Given the description of an element on the screen output the (x, y) to click on. 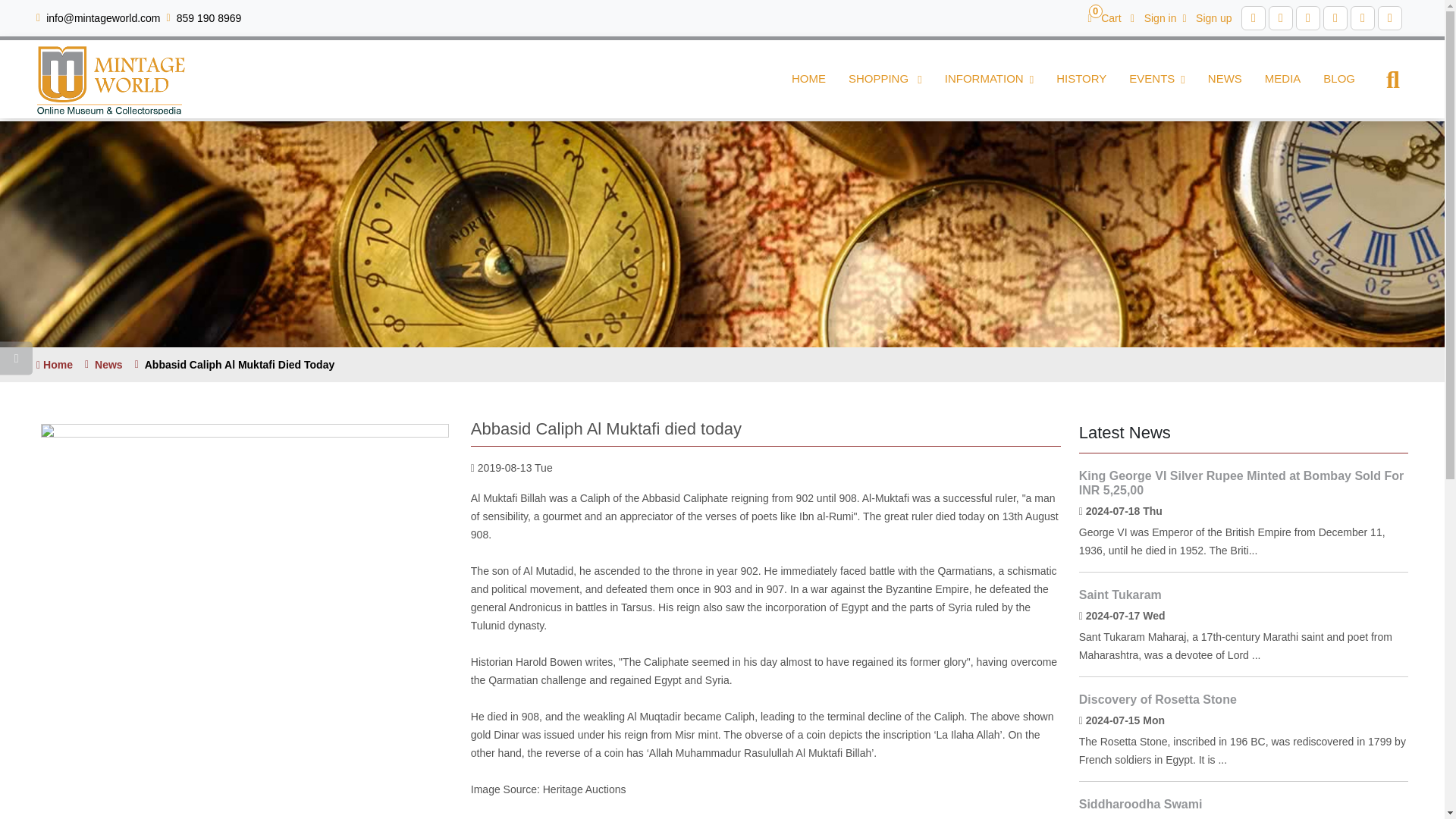
INFORMATION (988, 78)
Sign up (1206, 18)
Sign in (1153, 18)
Cart (1104, 18)
Sign up (1104, 18)
SHOPPING (1206, 18)
859 190 8969 (884, 78)
Sign in (208, 18)
